Given the description of an element on the screen output the (x, y) to click on. 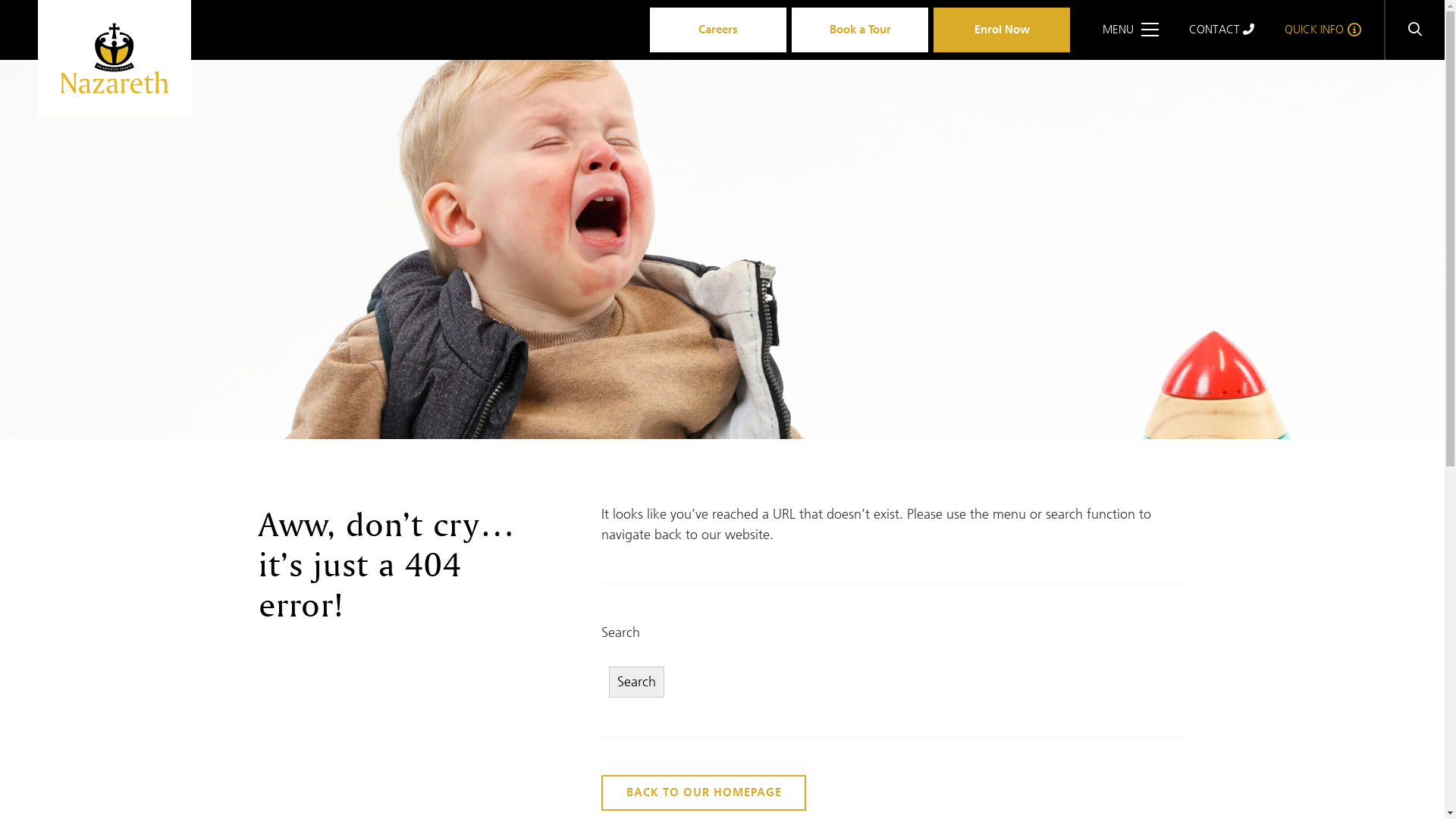
CONTACT Element type: text (1221, 29)
Book a Tour Element type: text (859, 29)
Enrol Now Element type: text (1001, 29)
Search Element type: text (636, 681)
BACK TO OUR HOMEPAGE Element type: text (703, 792)
Careers Element type: text (717, 29)
